Given the description of an element on the screen output the (x, y) to click on. 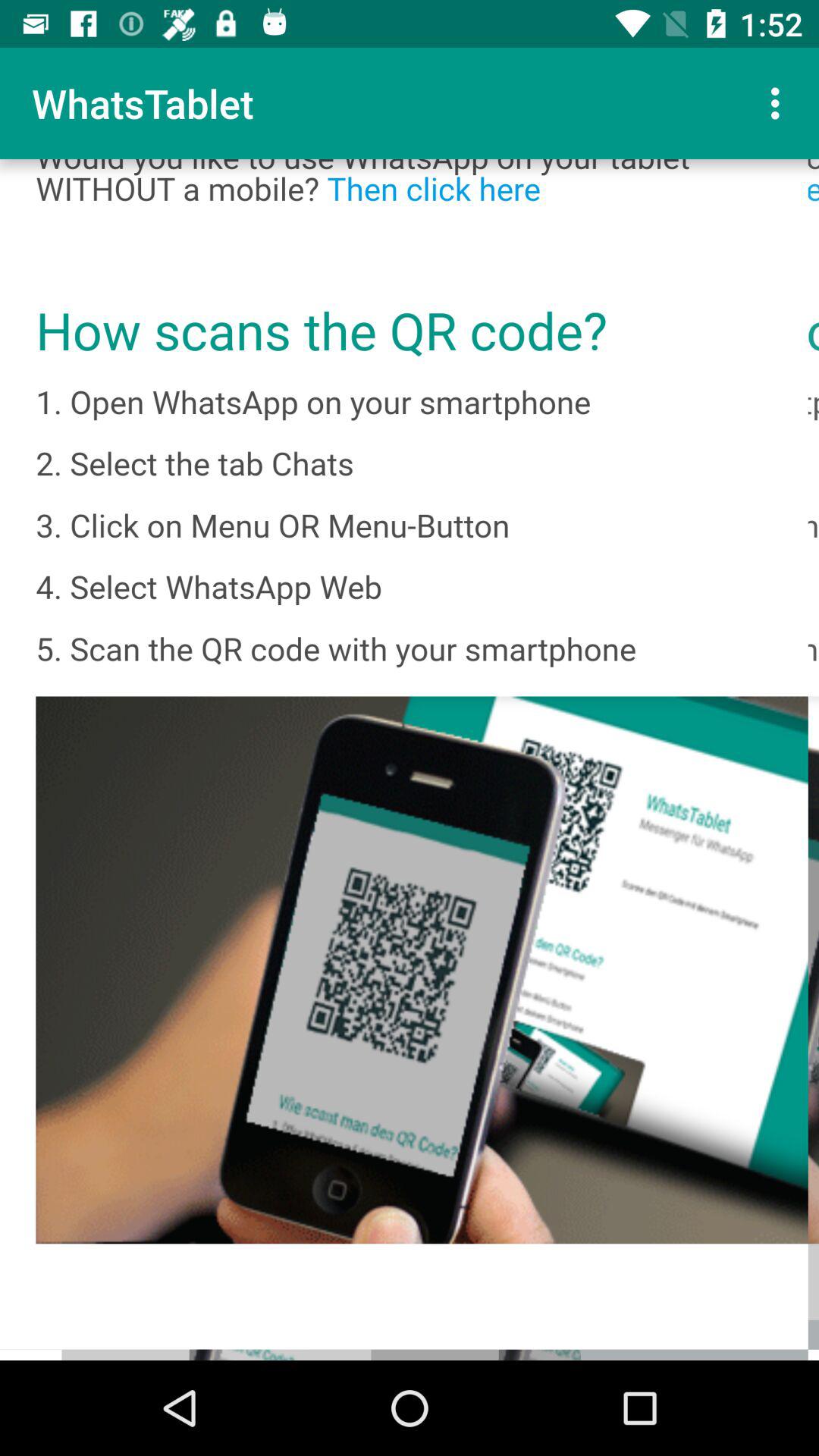
press the item at the top right corner (779, 103)
